Given the description of an element on the screen output the (x, y) to click on. 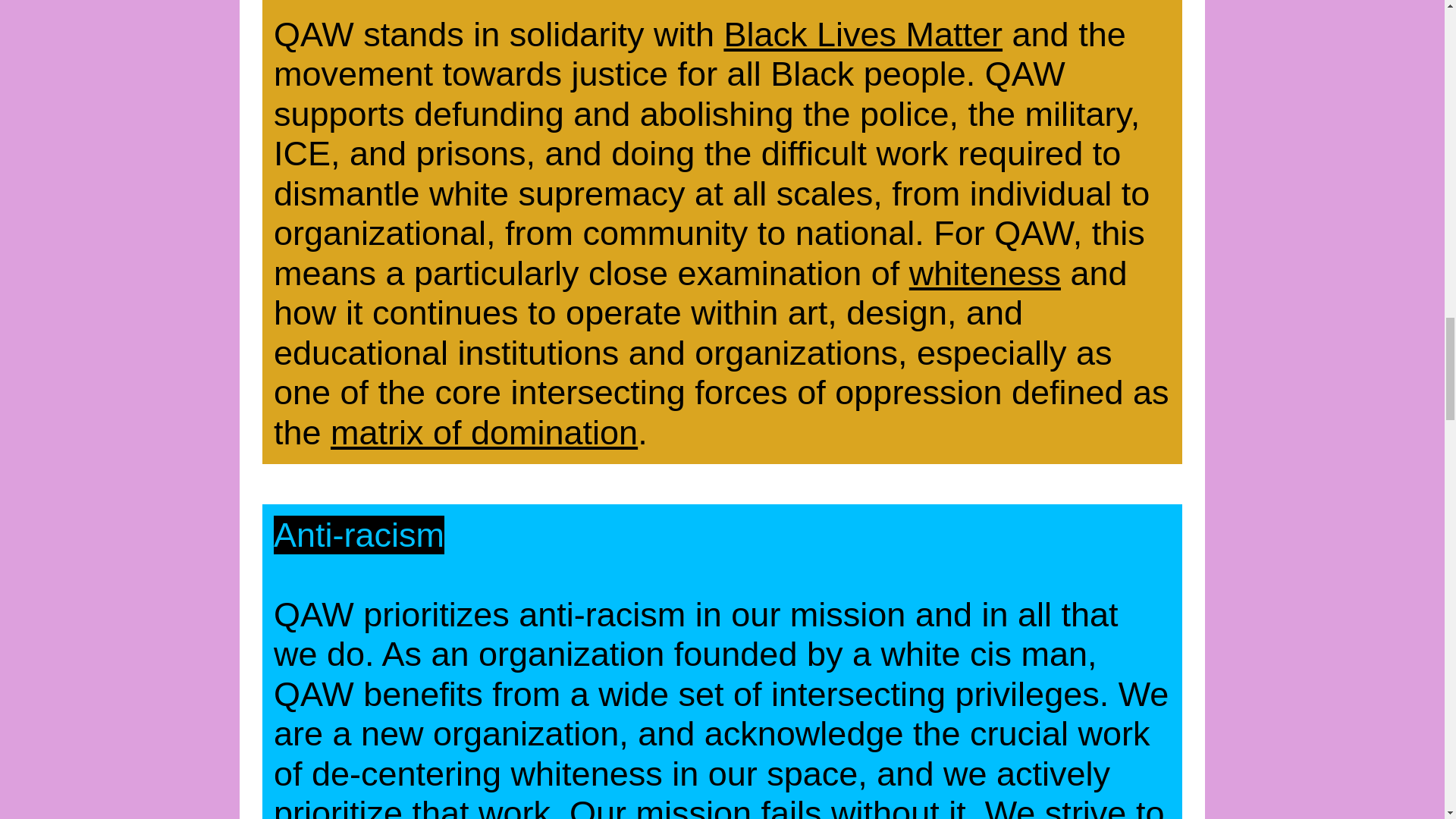
matrix of domination (483, 432)
Black Lives Matter (863, 34)
